Given the description of an element on the screen output the (x, y) to click on. 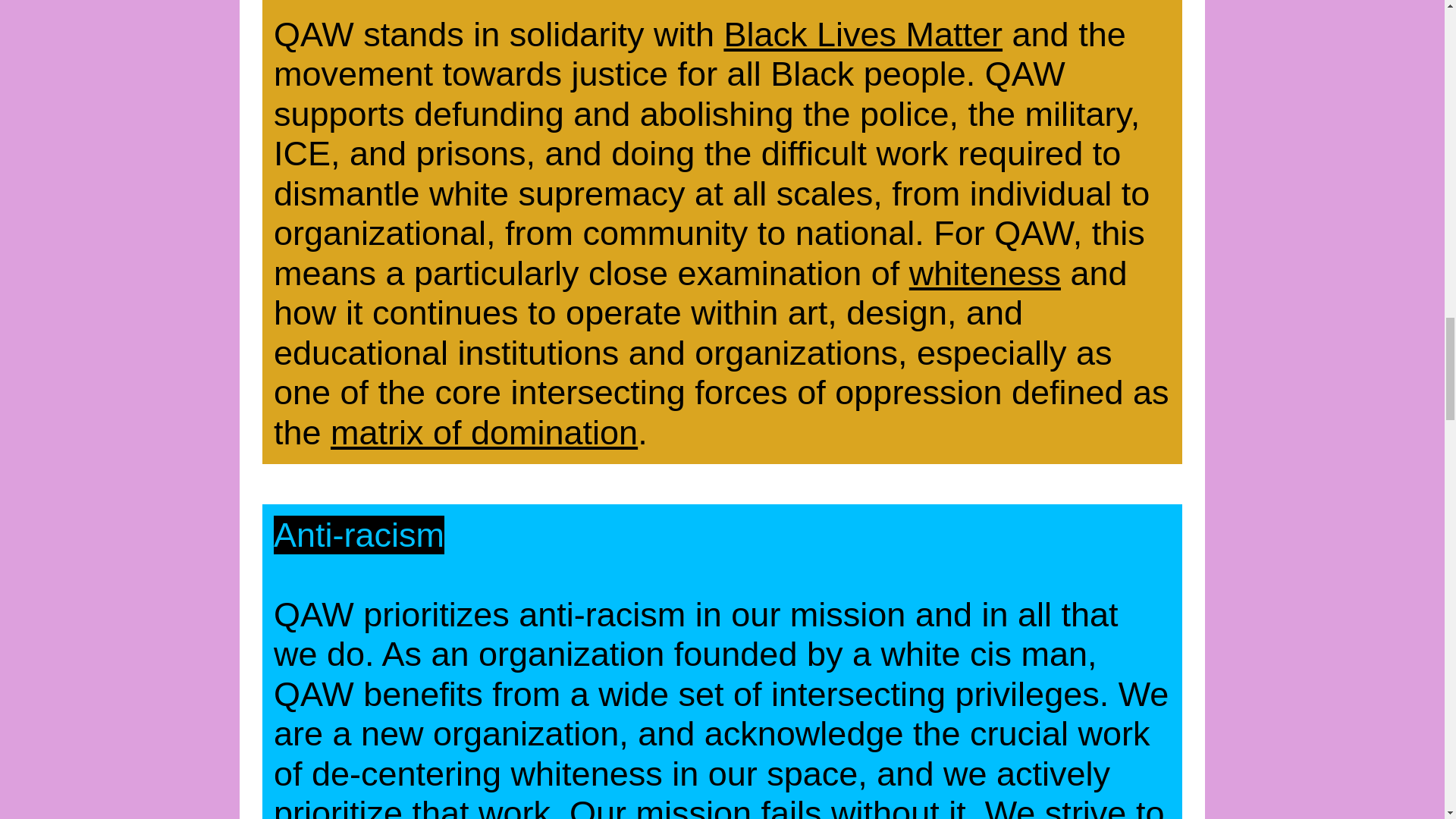
matrix of domination (483, 432)
Black Lives Matter (863, 34)
